Given the description of an element on the screen output the (x, y) to click on. 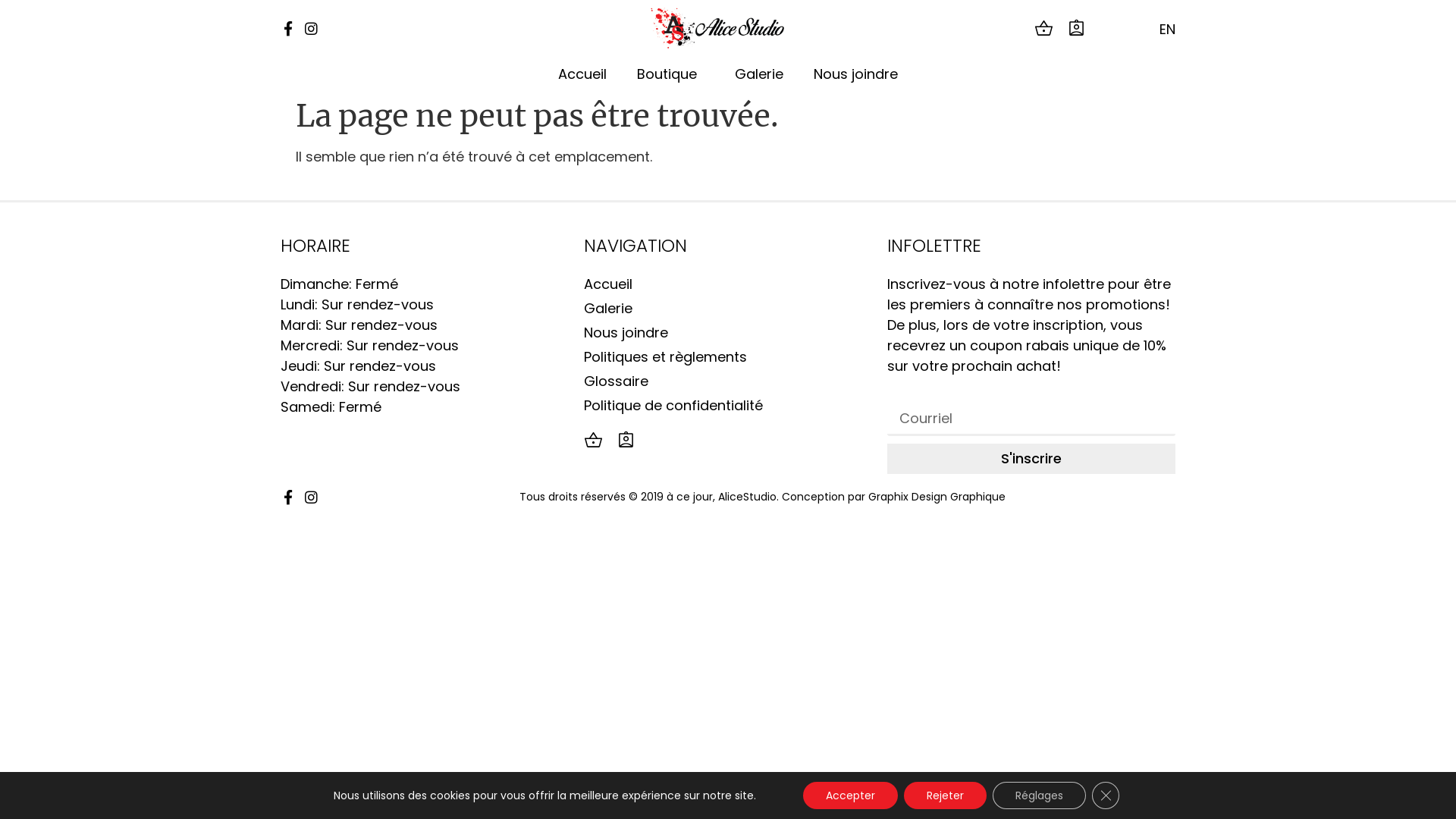
Accueil Element type: text (581, 73)
Accueil Element type: text (727, 283)
EN Element type: text (1163, 28)
Nous joindre Element type: text (727, 332)
Rejeter Element type: text (944, 795)
Galerie Element type: text (727, 308)
S'inscrire Element type: text (1031, 458)
Galerie Element type: text (758, 73)
Close GDPR Cookie Banner Element type: text (1105, 795)
Glossaire Element type: text (727, 380)
Boutique Element type: text (670, 73)
Nous joindre Element type: text (855, 73)
Graphix Design Graphique Element type: text (936, 496)
Accepter Element type: text (850, 795)
